Given the description of an element on the screen output the (x, y) to click on. 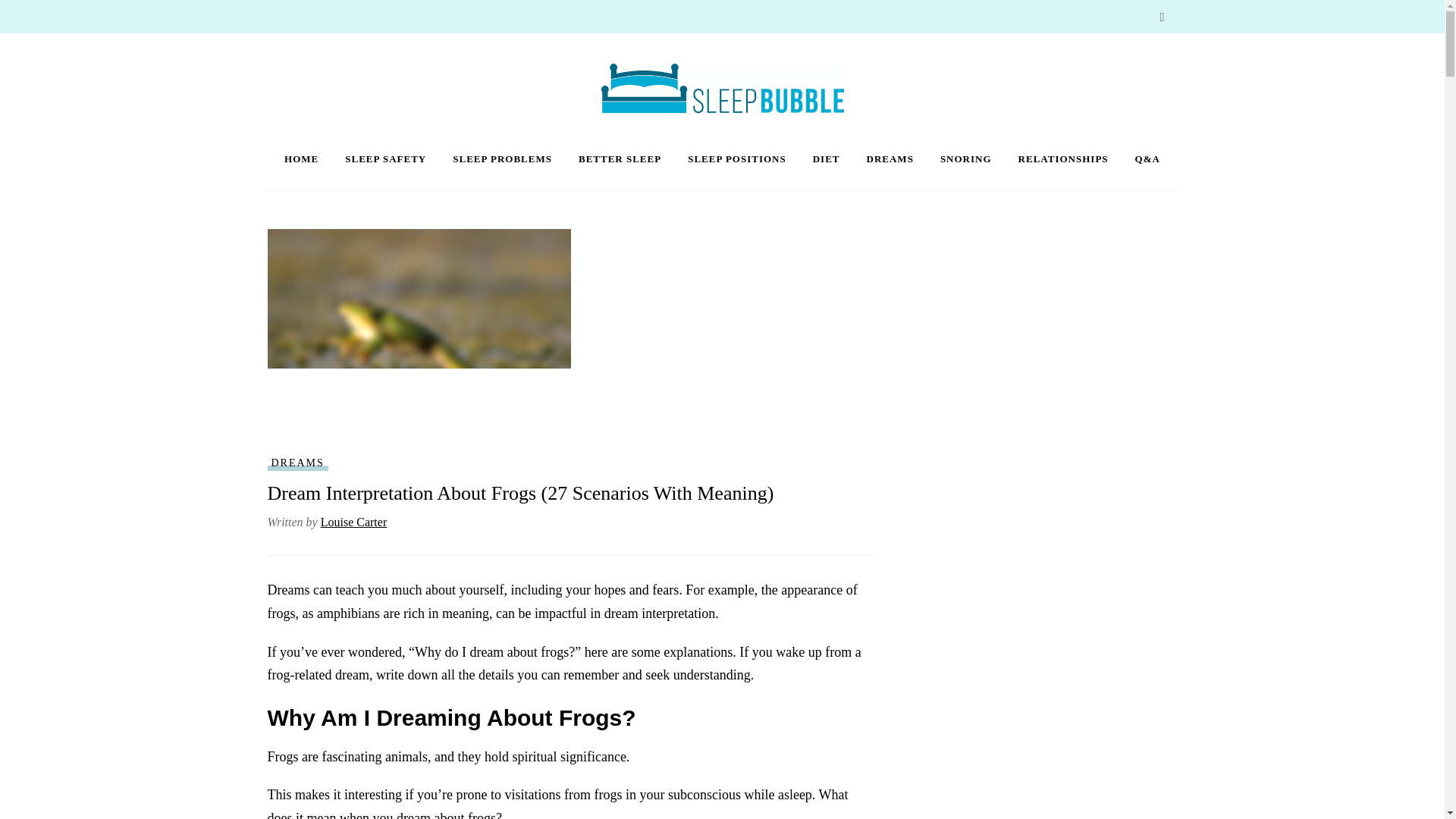
RELATIONSHIPS (1062, 159)
SLEEP SAFETY (385, 159)
Search (1161, 18)
HOME (300, 159)
DREAMS (890, 159)
DREAMS (296, 463)
SNORING (965, 159)
SLEEP PROBLEMS (501, 159)
SLEEP POSITIONS (736, 159)
Posts by Louise Carter (353, 521)
